Given the description of an element on the screen output the (x, y) to click on. 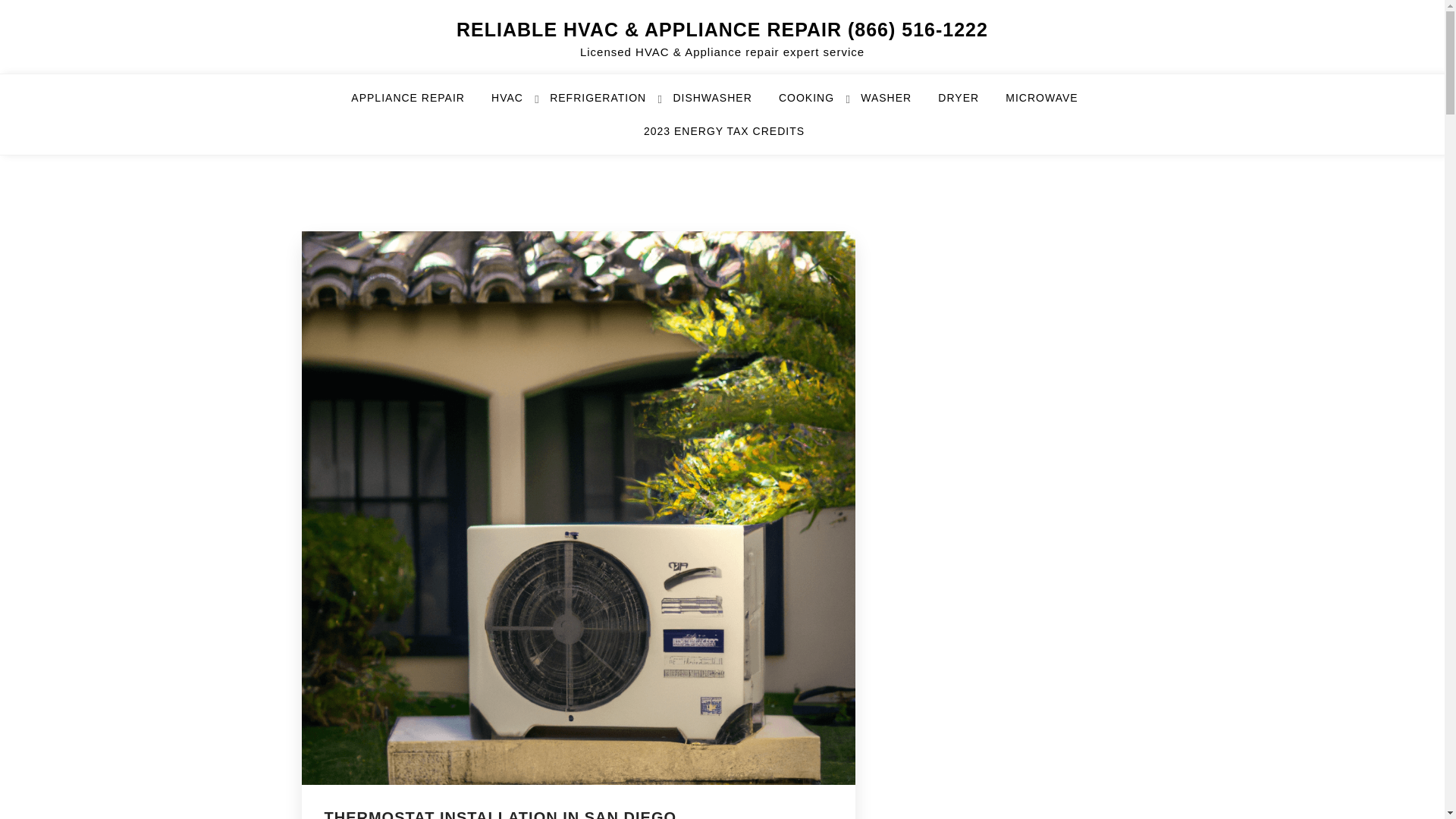
MICROWAVE (1051, 104)
COOKING (815, 104)
APPLIANCE REPAIR (416, 104)
DRYER (967, 104)
REFRIGERATION (607, 104)
DISHWASHER (721, 104)
HVAC (516, 104)
WASHER (895, 104)
